Given the description of an element on the screen output the (x, y) to click on. 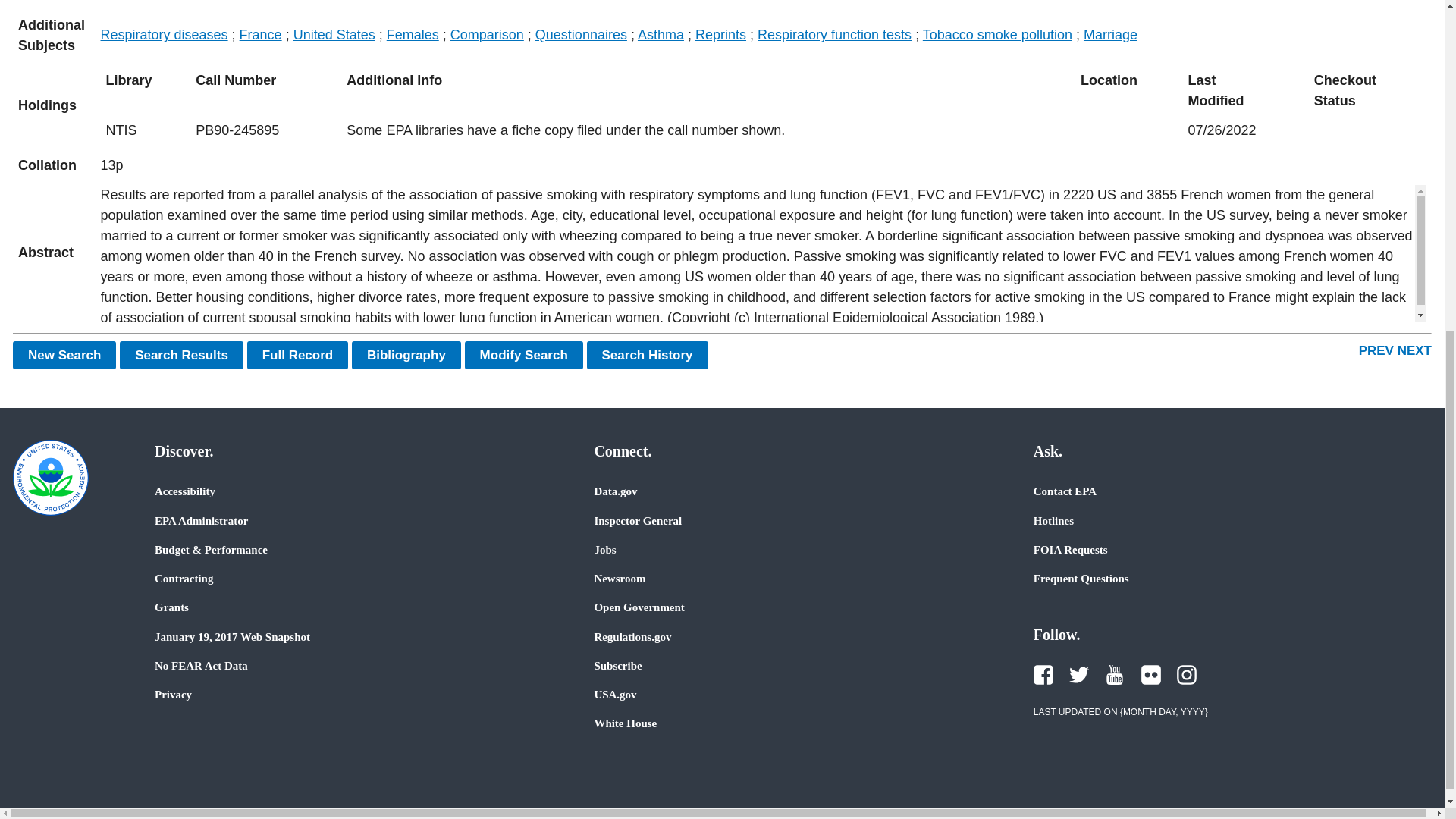
PREV (1375, 350)
Show results in standard format (181, 355)
Search History (646, 355)
Full Record (298, 355)
Questionnaires (581, 34)
January 19, 2017 Web Snapshot (232, 636)
No FEAR Act Data (200, 665)
Asthma (660, 34)
EPA Administrator (200, 520)
NEXT (1414, 350)
